Given the description of an element on the screen output the (x, y) to click on. 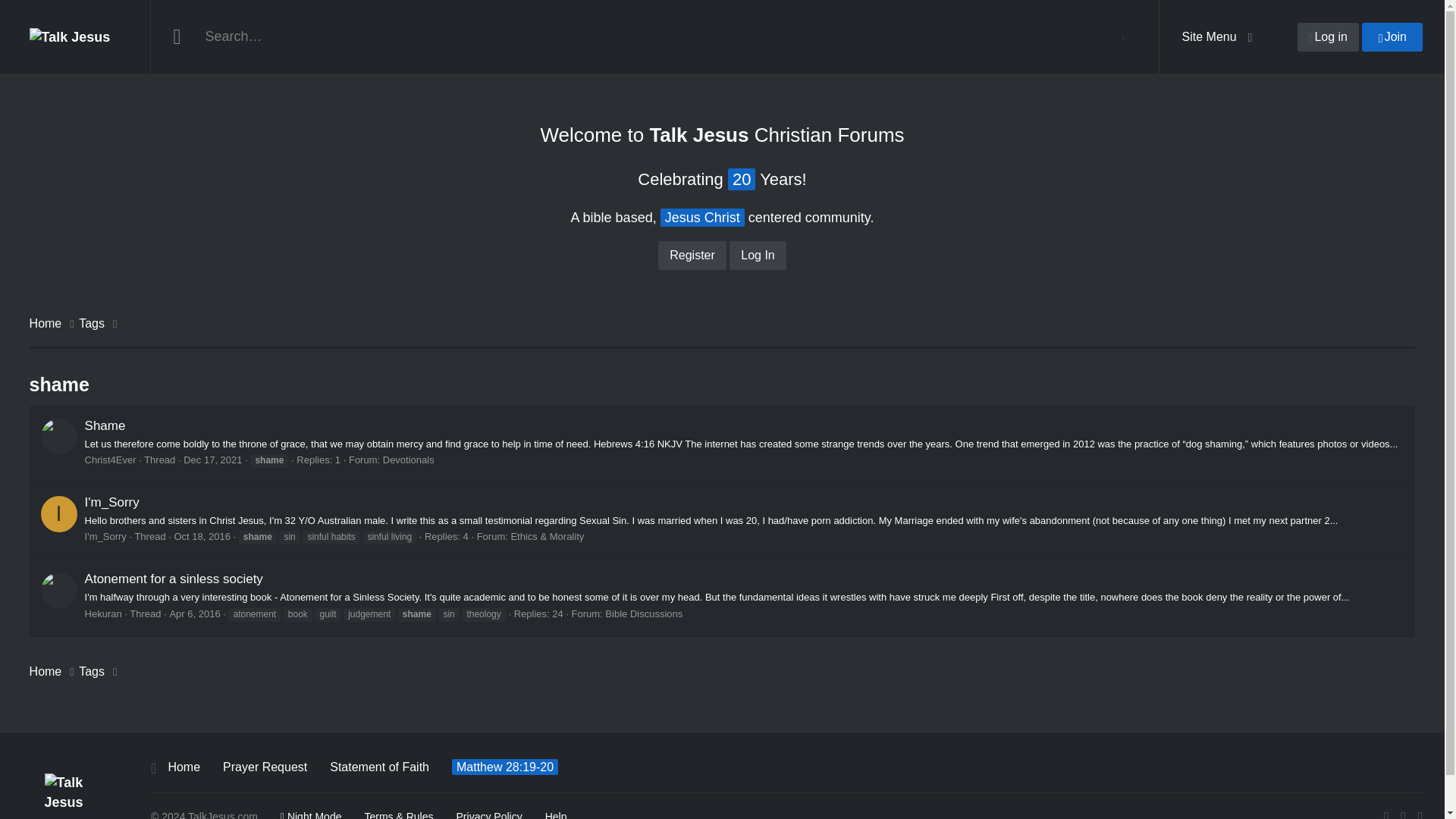
Oct 18, 2016 at 9:42 PM (201, 536)
Join (1391, 36)
Apr 6, 2016 at 3:38 PM (193, 613)
Style chooser (311, 814)
Dec 17, 2021 at 8:08 AM (212, 460)
Log in (1327, 36)
